Given the description of an element on the screen output the (x, y) to click on. 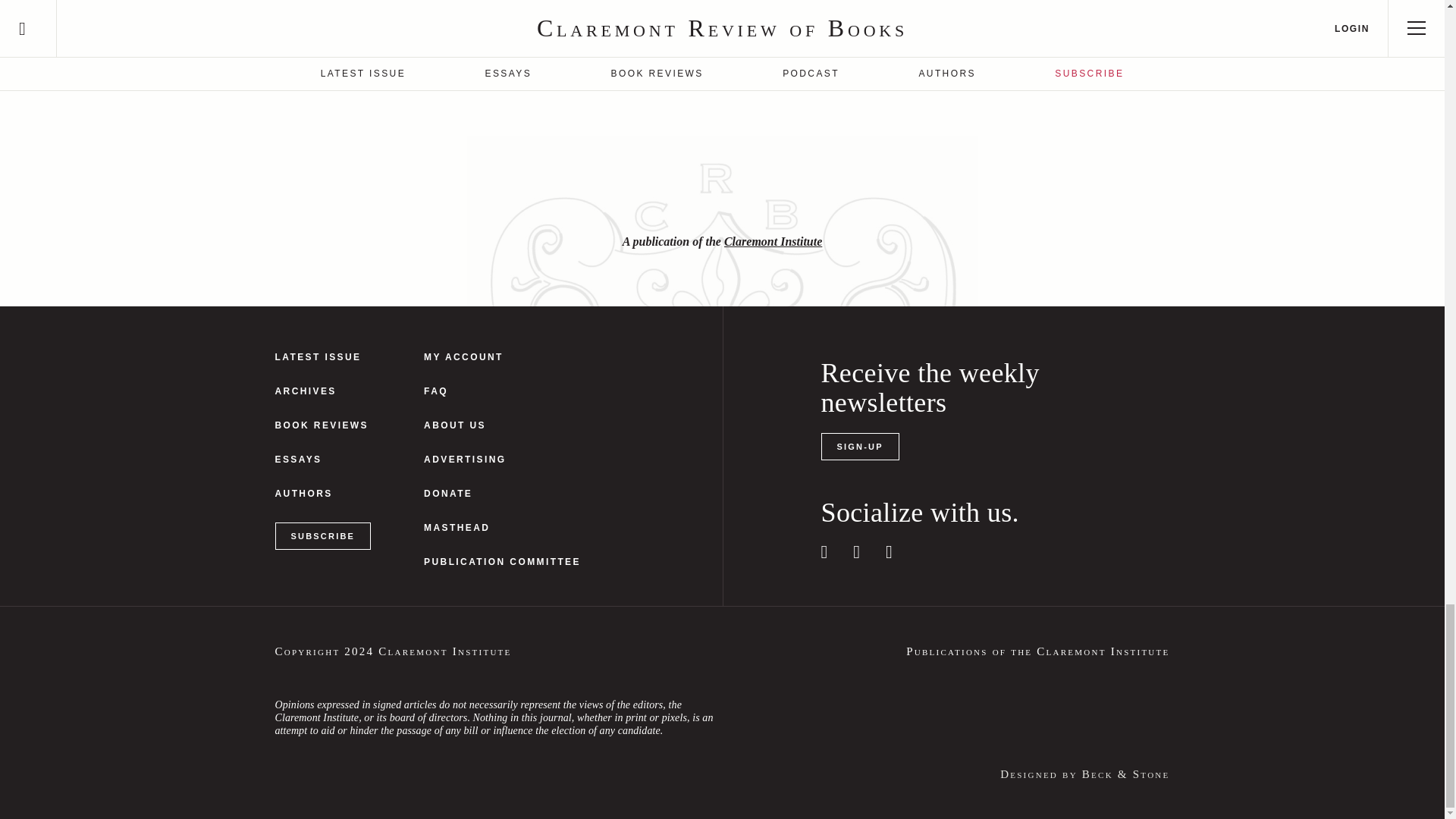
ARCHIVES (323, 391)
BOOK REVIEWS (323, 425)
LATEST ISSUE (323, 357)
Spring 2024 (323, 357)
ESSAYS (323, 460)
read more (874, 76)
Claremont Institute (772, 241)
